Given the description of an element on the screen output the (x, y) to click on. 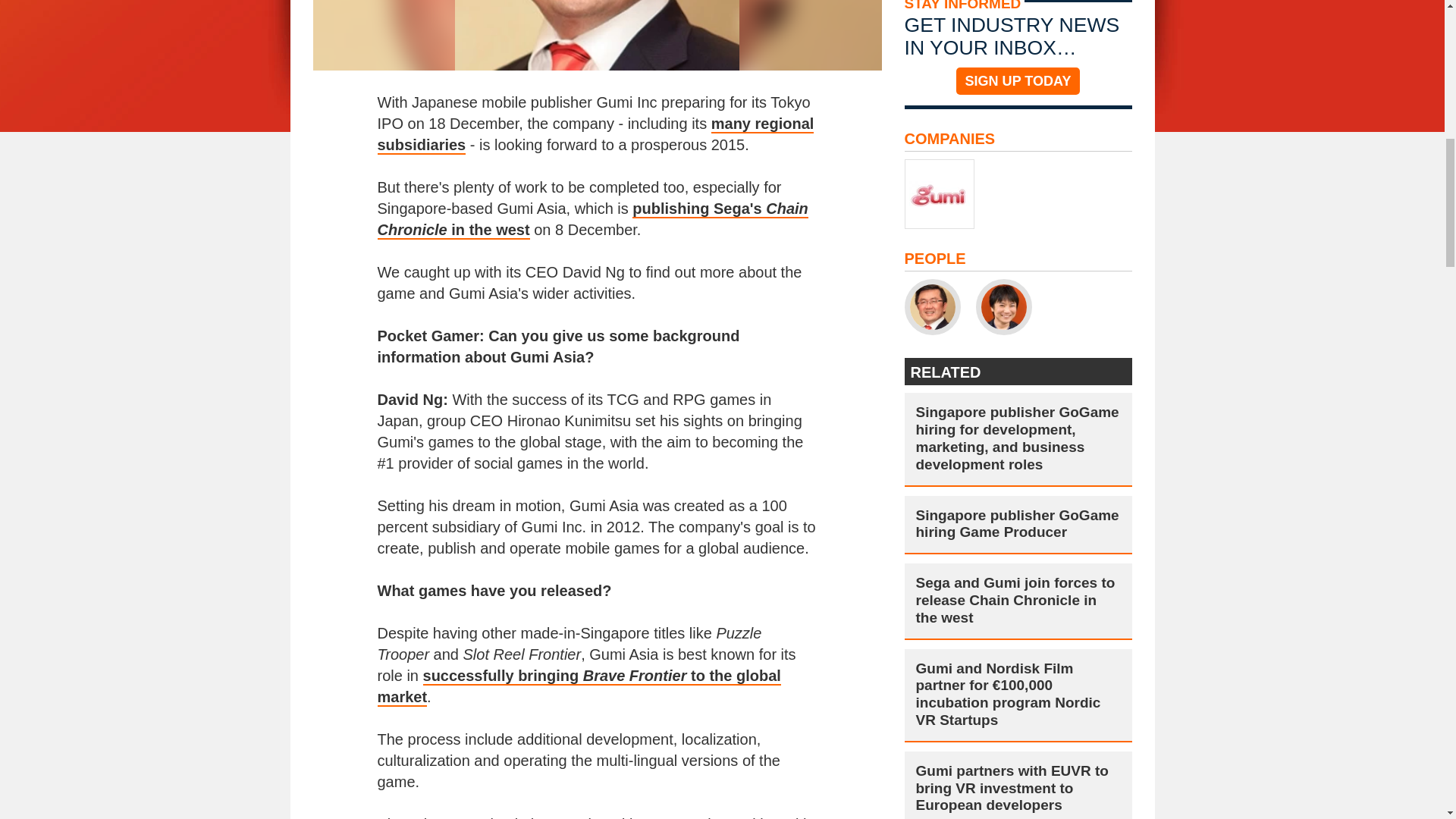
many regional subsidiaries (595, 134)
successfully bringing Brave Frontier to the global market (578, 686)
publishing Sega's Chain Chronicle in the west (592, 219)
